Given the description of an element on the screen output the (x, y) to click on. 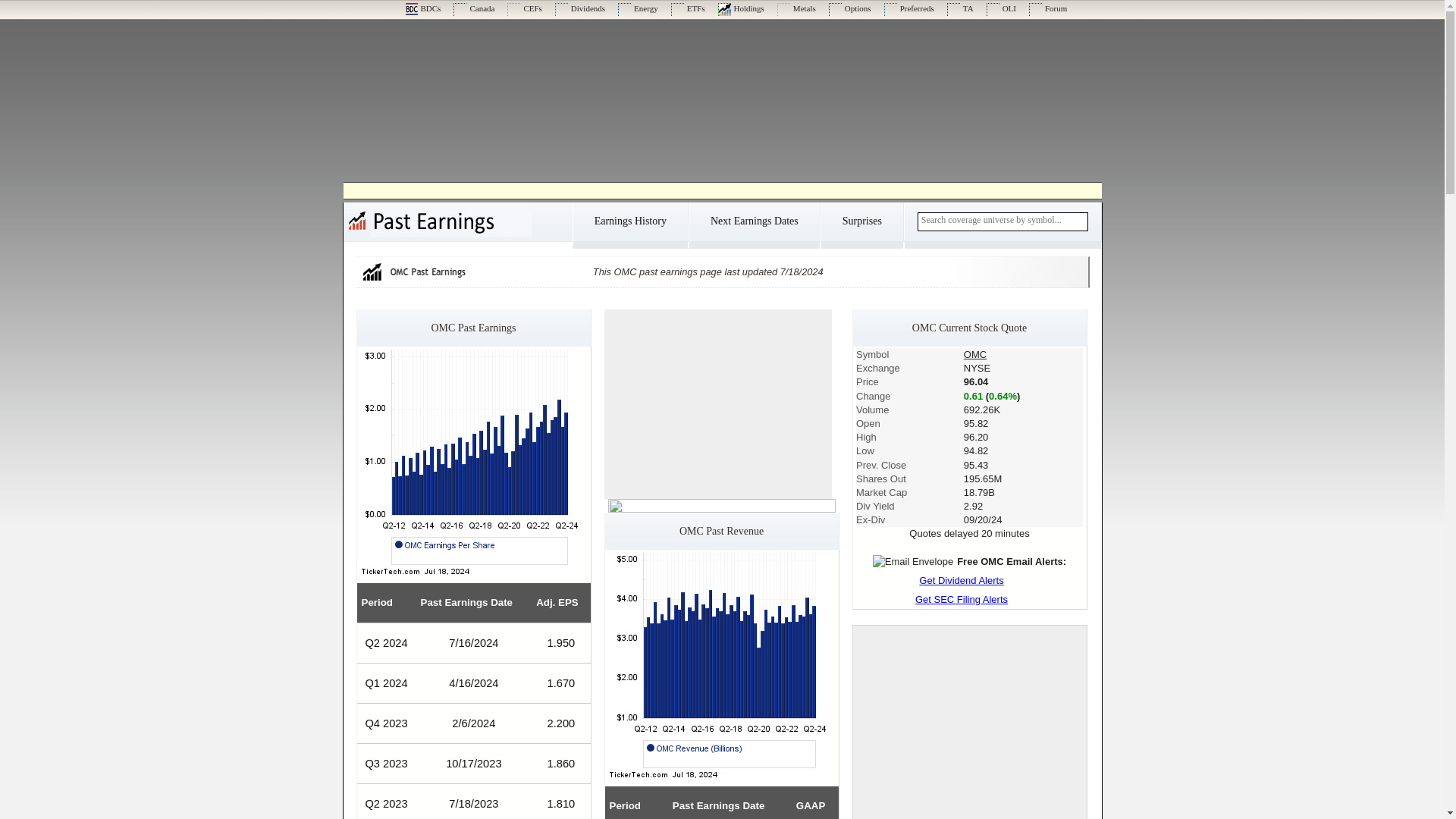
Dividends (579, 8)
Earnings History (629, 225)
Dividend Channel (579, 8)
ETF Channel (687, 8)
Surprises (861, 225)
Stock Options Channel (849, 8)
BDC Investor (422, 8)
TA (960, 8)
Get Dividend Alerts (968, 580)
Next Earnings Dates Calendar (753, 225)
The Online Investor (1001, 8)
ValueForum (1048, 8)
CEF Channel (523, 8)
Holdings Channel (740, 8)
Energy (637, 8)
